Given the description of an element on the screen output the (x, y) to click on. 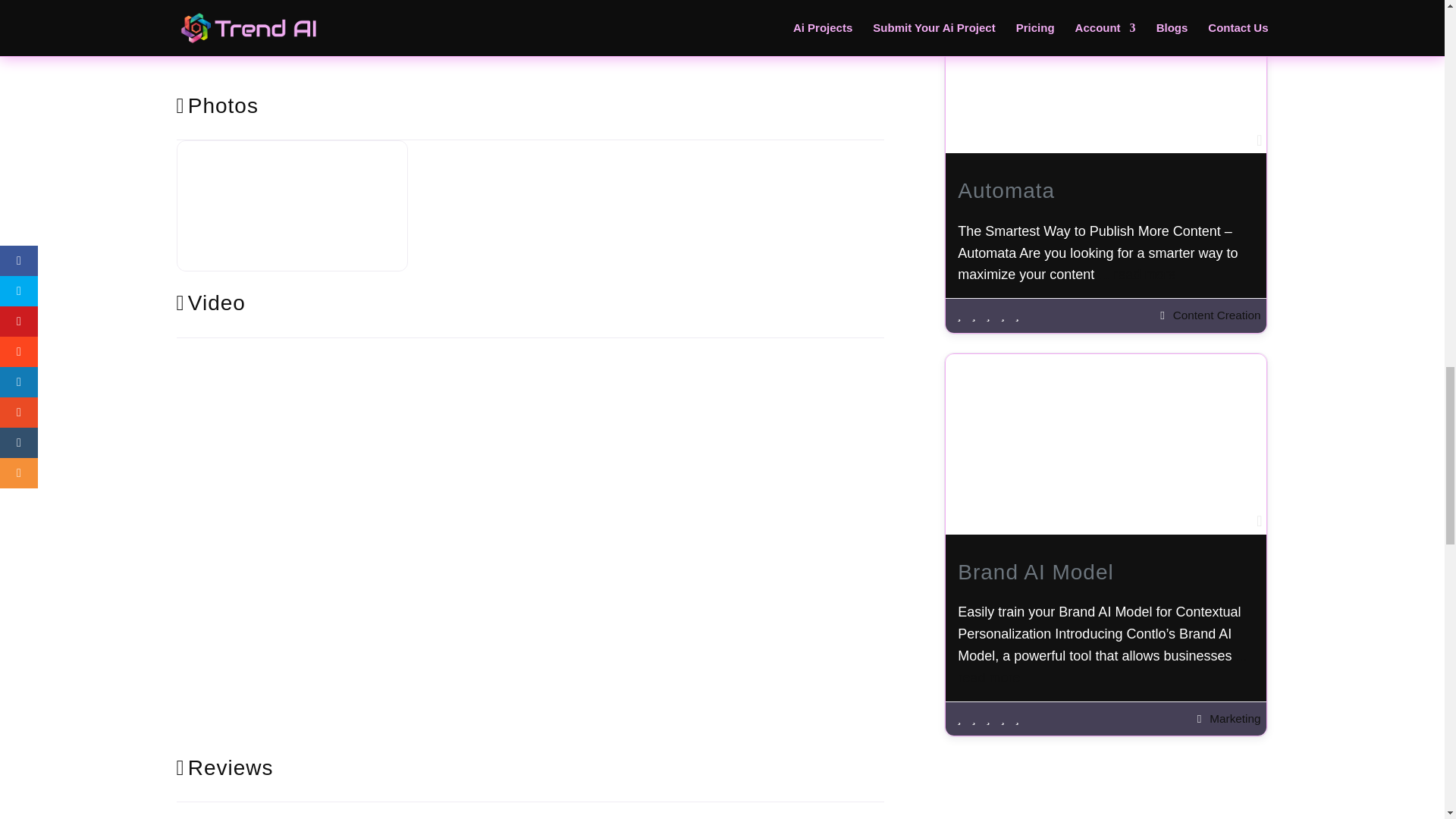
Automata (1006, 190)
... read more (1102, 666)
Reviews (224, 767)
Brand AI Model (1035, 571)
Photos (216, 105)
Video (210, 302)
Content Creation (1216, 314)
... read more (1135, 273)
